Given the description of an element on the screen output the (x, y) to click on. 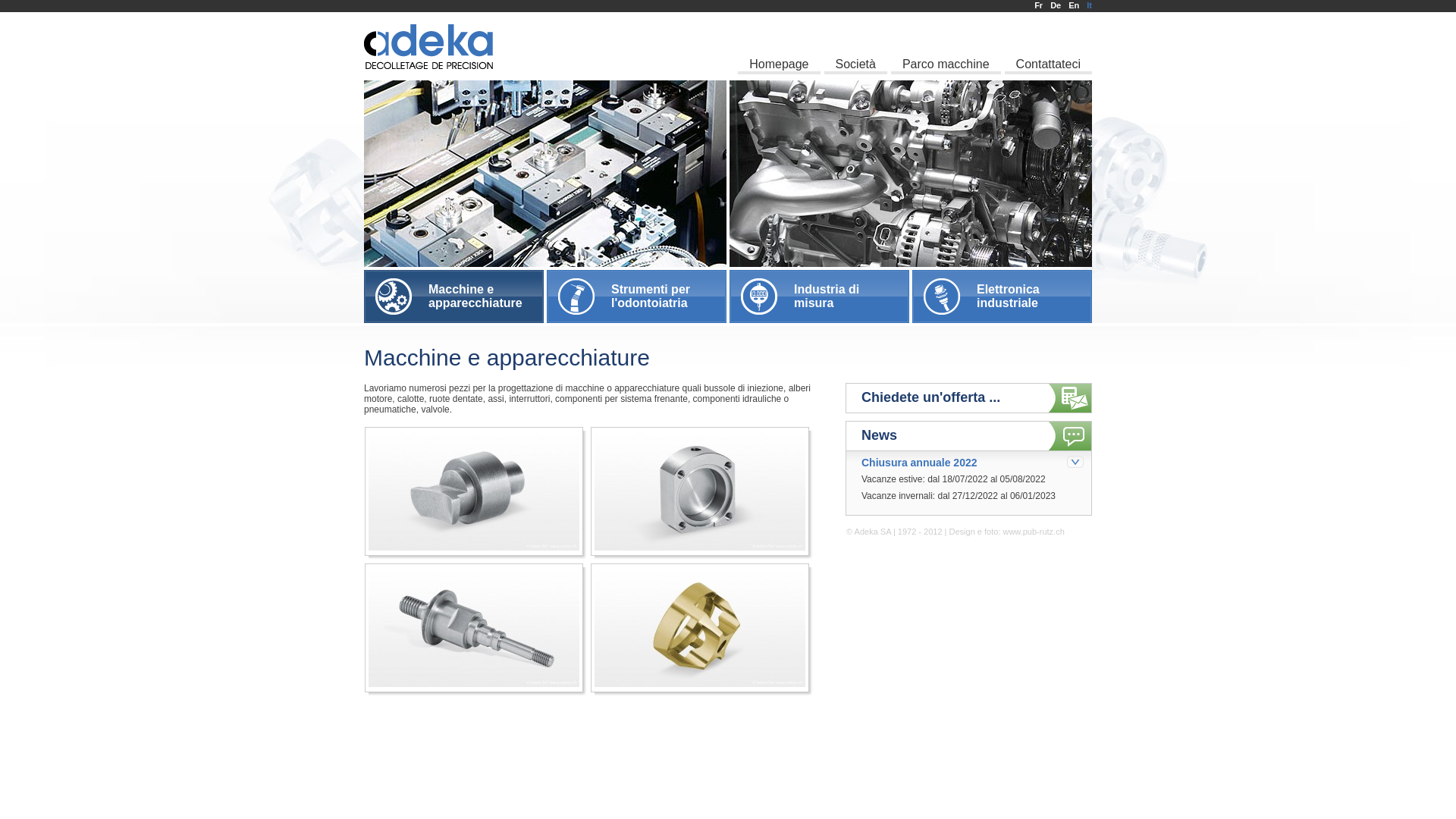
Fr Element type: text (1038, 4)
En Element type: text (1073, 4)
Chiedete un'offerta ... Element type: text (968, 394)
www.pub-rutz.ch Element type: text (1032, 531)
Homepage Element type: text (778, 43)
Industria di misura Element type: text (819, 296)
Strumenti per l'odontoiatria Element type: text (636, 296)
Parco macchine Element type: text (946, 43)
Elettronica industriale Element type: text (1002, 296)
De Element type: text (1055, 4)
Contattateci Element type: text (1048, 43)
It Element type: text (1089, 4)
Macchine e apparecchiature Element type: text (453, 296)
